Given the description of an element on the screen output the (x, y) to click on. 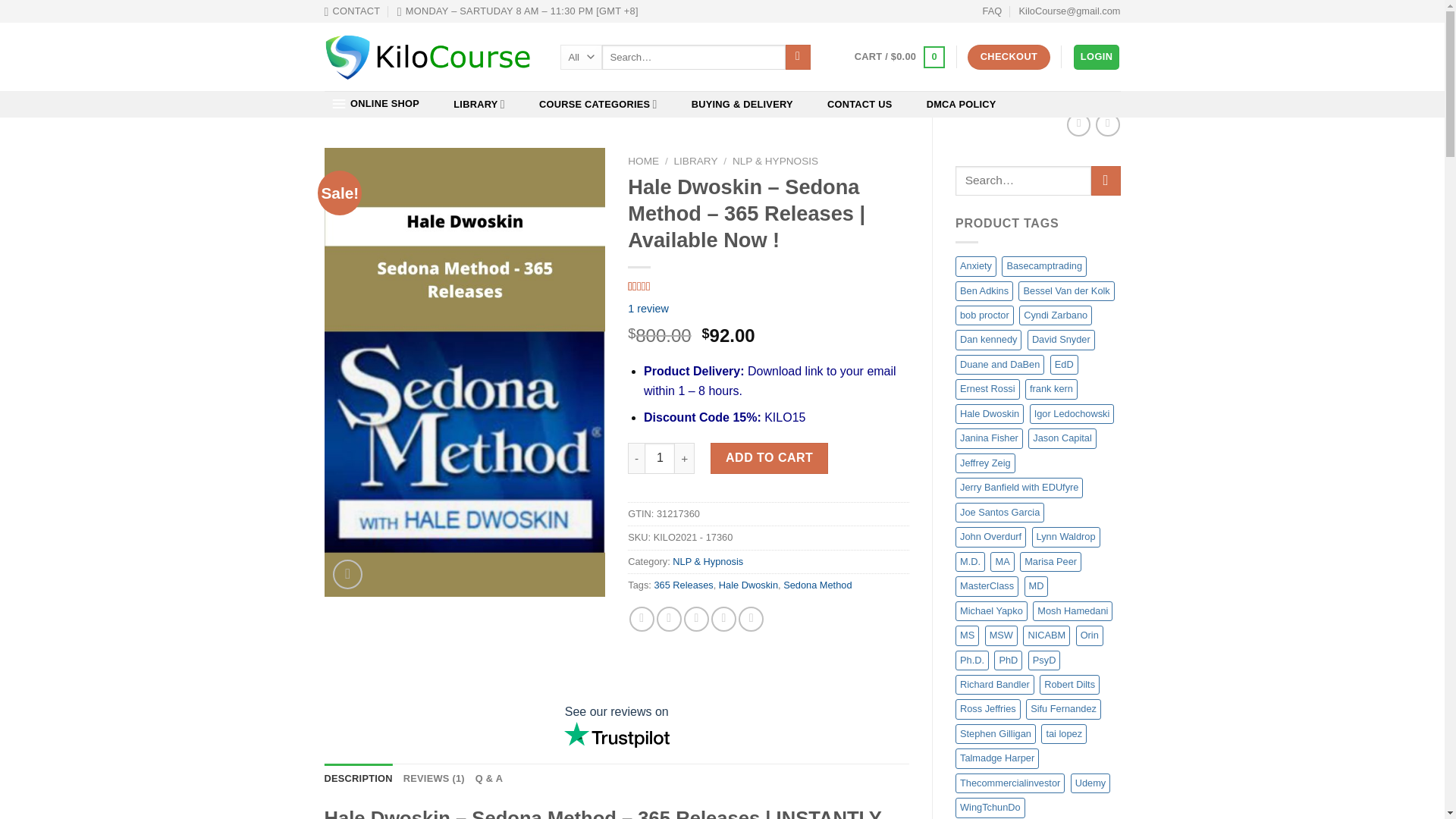
DMCA POLICY (960, 104)
LOGIN (1096, 57)
LIBRARY (479, 104)
COURSE CATEGORIES (597, 104)
ONLINE SHOP (375, 103)
Basecamptrading (1043, 266)
CONTACT (352, 11)
Ben Adkins (984, 290)
CHECKOUT (1008, 57)
Cart (899, 57)
